Given the description of an element on the screen output the (x, y) to click on. 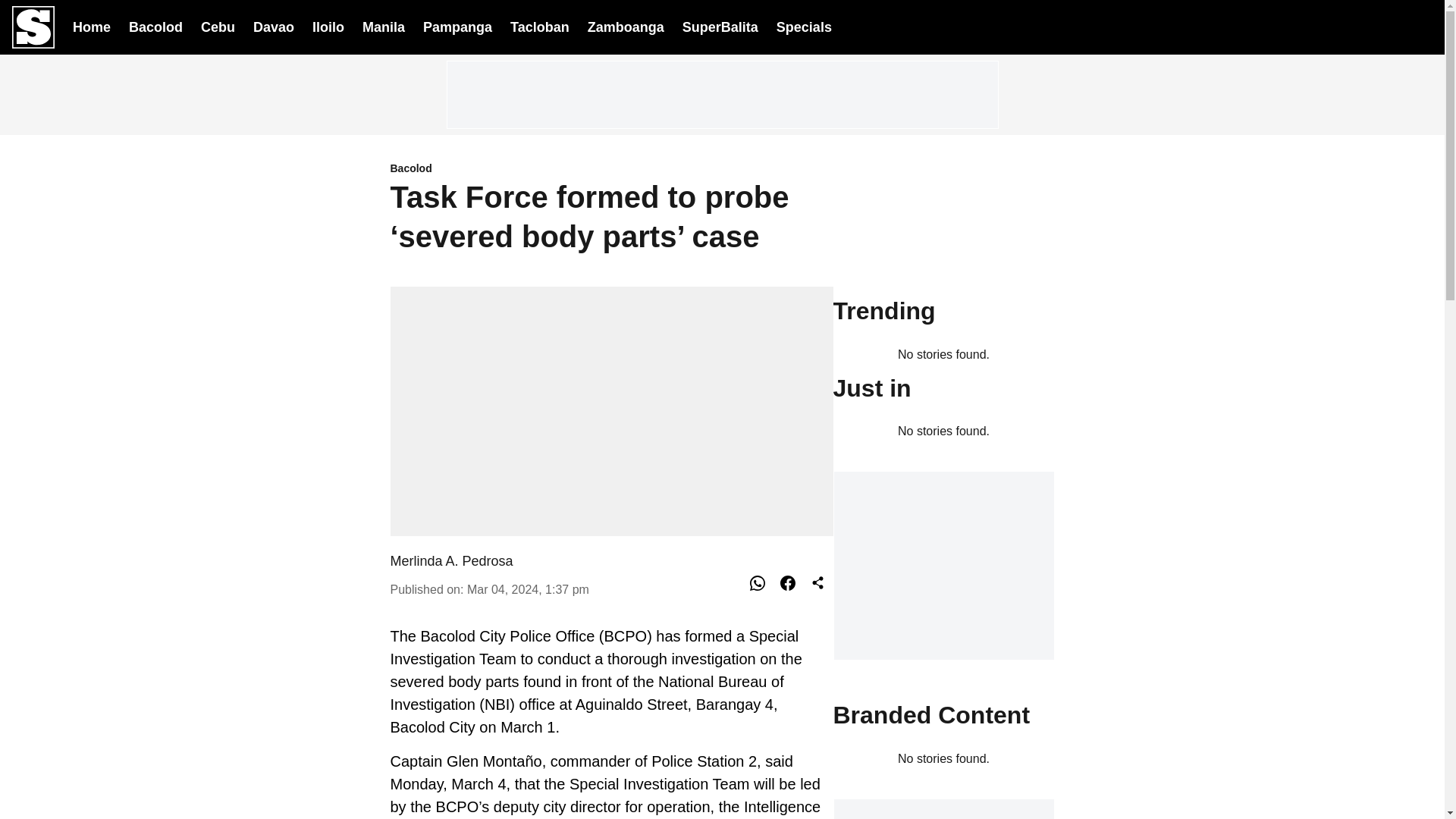
Home (91, 26)
Iloilo (328, 26)
Manila (383, 26)
Merlinda A. Pedrosa (451, 560)
2024-03-04 13:37 (528, 589)
SuperBalita (720, 27)
Zamboanga (625, 26)
Pampanga (457, 26)
Cebu (217, 26)
Bacolod (156, 26)
Davao (273, 26)
Tacloban (540, 26)
Bacolod (611, 169)
